Given the description of an element on the screen output the (x, y) to click on. 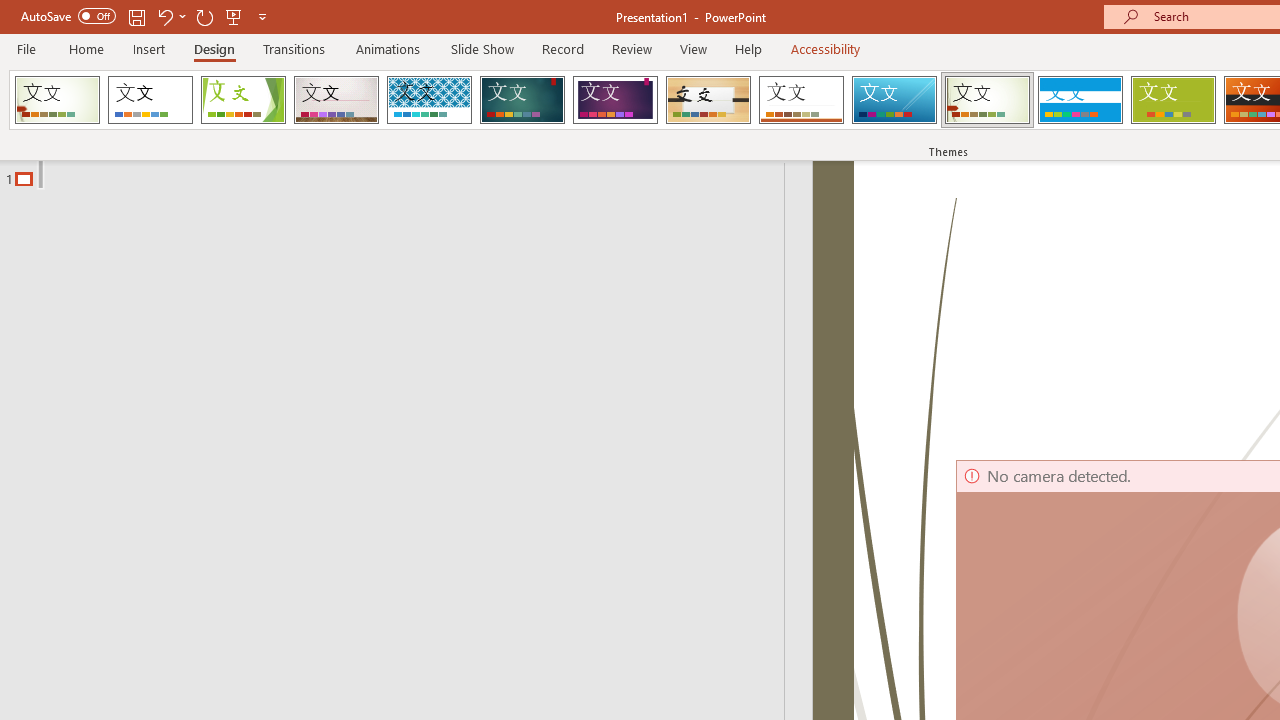
Retrospect (801, 100)
Outline (401, 174)
Basis (1172, 100)
Gallery (336, 100)
Banded (1080, 100)
